Given the description of an element on the screen output the (x, y) to click on. 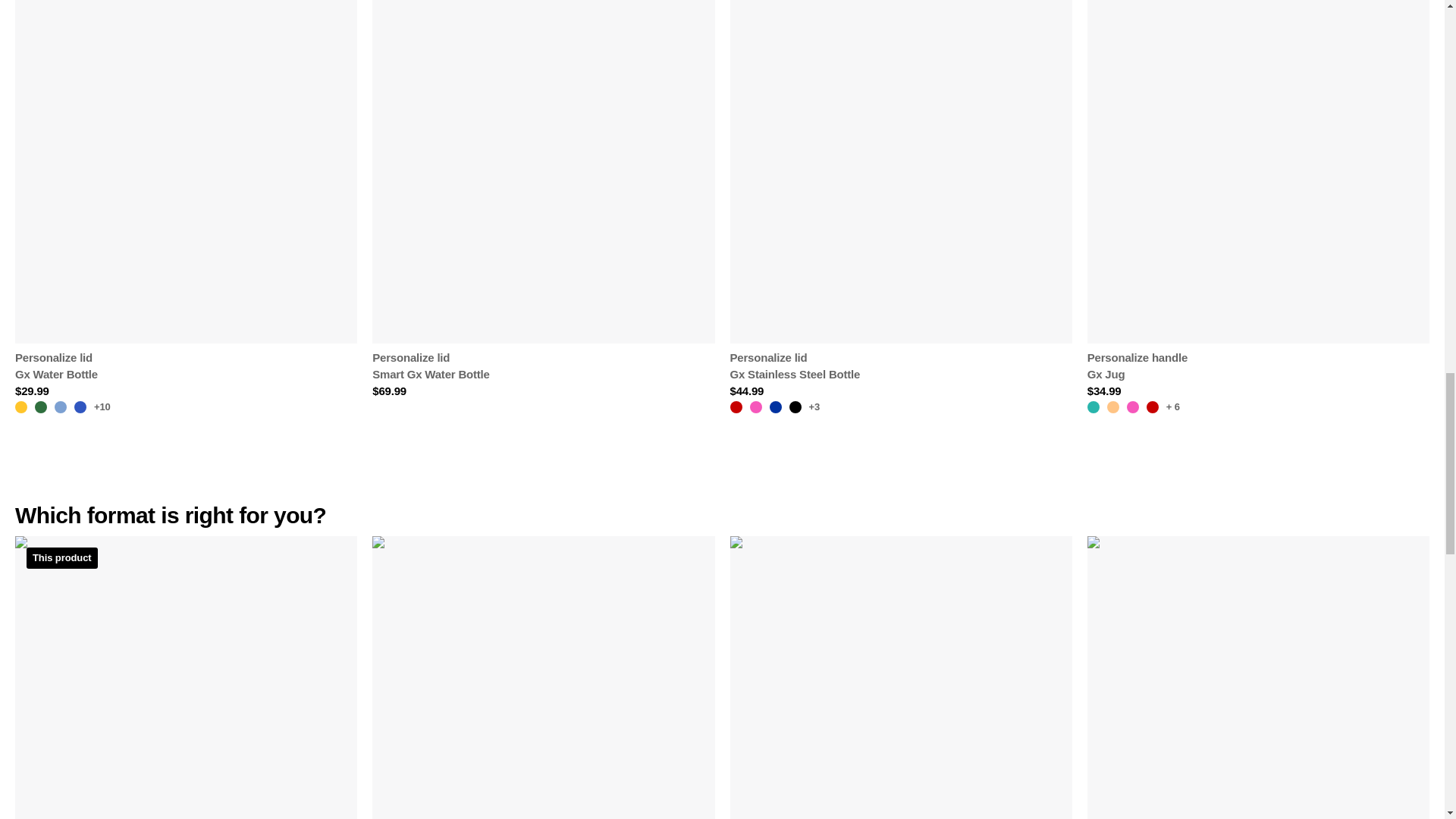
Gx Water Bottle (62, 374)
Smart Gx Water Bottle (430, 374)
Gx Stainless Steel Bottle (794, 374)
Gx Jug (1137, 374)
